Given the description of an element on the screen output the (x, y) to click on. 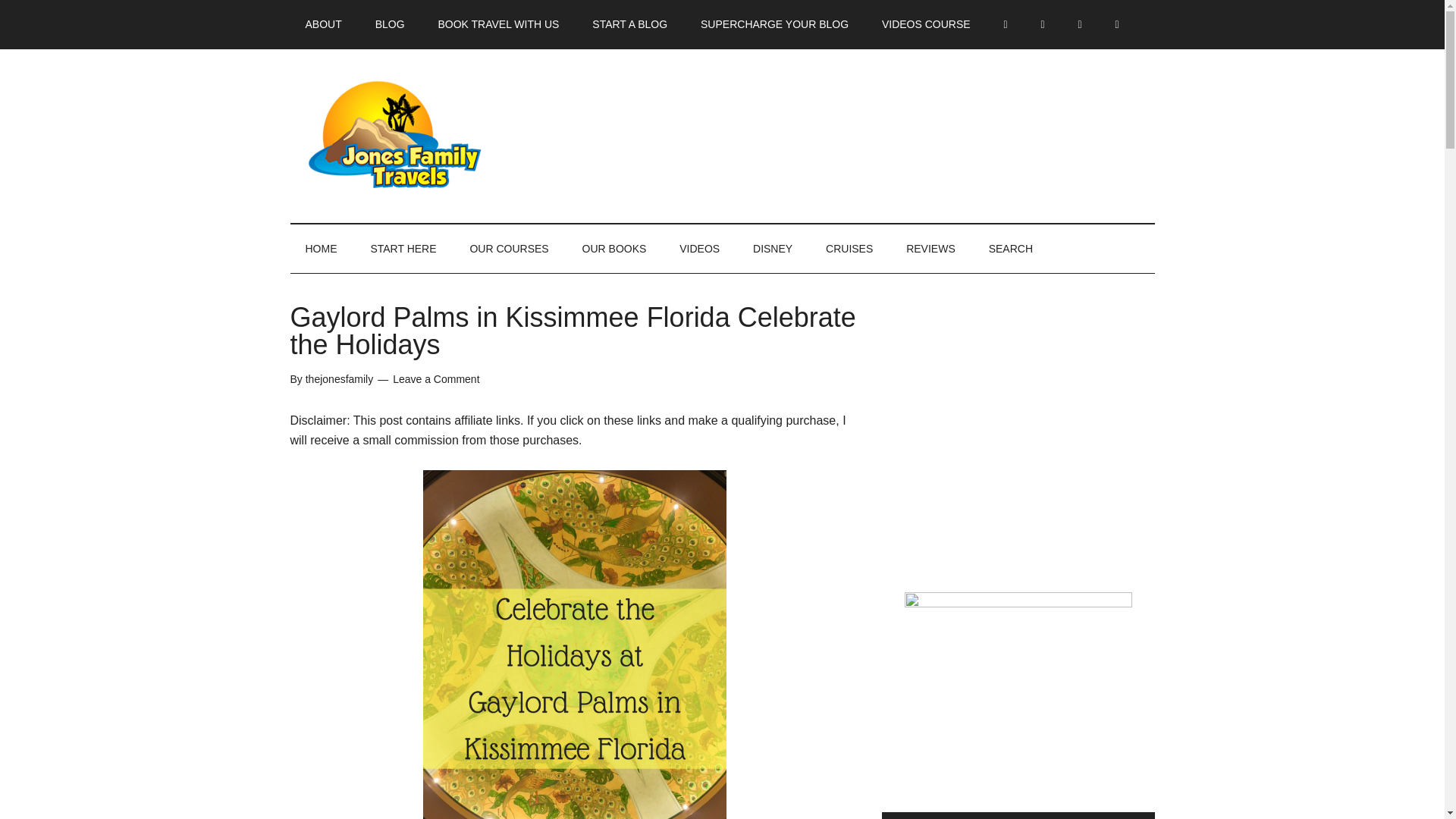
SEARCH (1011, 248)
START HERE (403, 248)
Jones Family Travels (433, 135)
VIDEOS COURSE (925, 24)
BLOG (389, 24)
HOME (320, 248)
OUR COURSES (508, 248)
CRUISES (849, 248)
REVIEWS (931, 248)
